Given the description of an element on the screen output the (x, y) to click on. 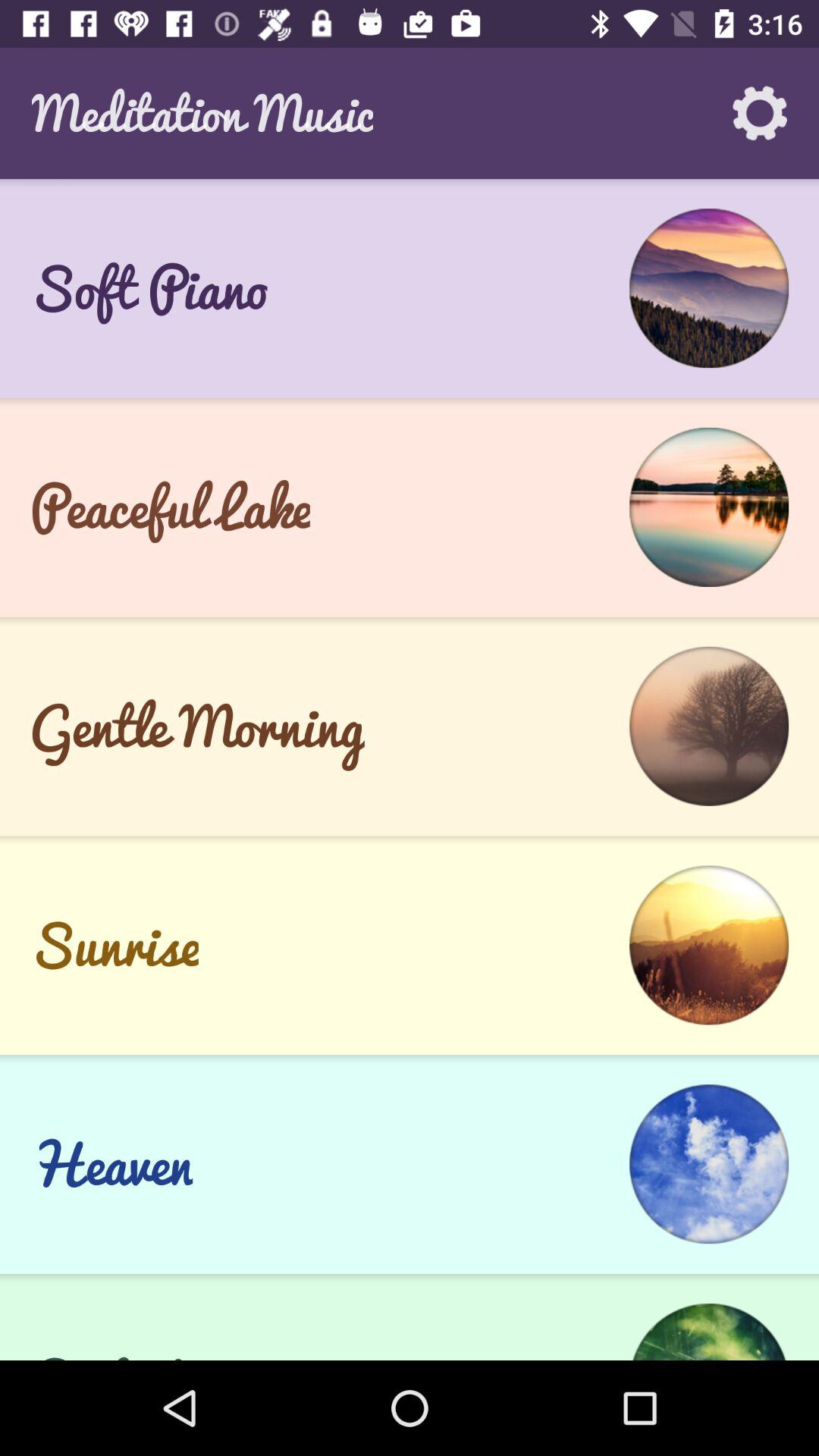
choose the perfect rain app (166, 1349)
